Given the description of an element on the screen output the (x, y) to click on. 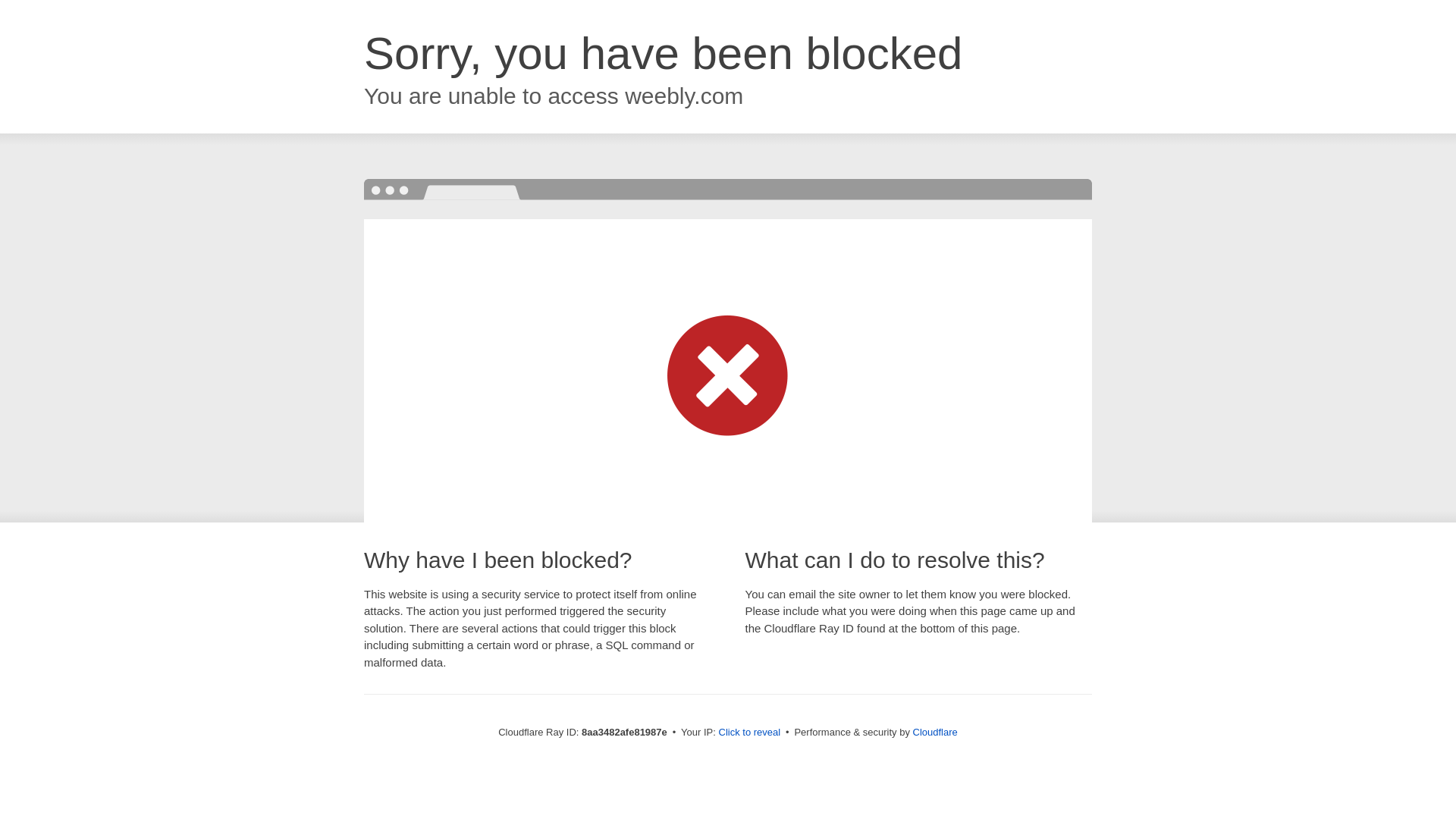
Click to reveal (749, 732)
Cloudflare (935, 731)
